Given the description of an element on the screen output the (x, y) to click on. 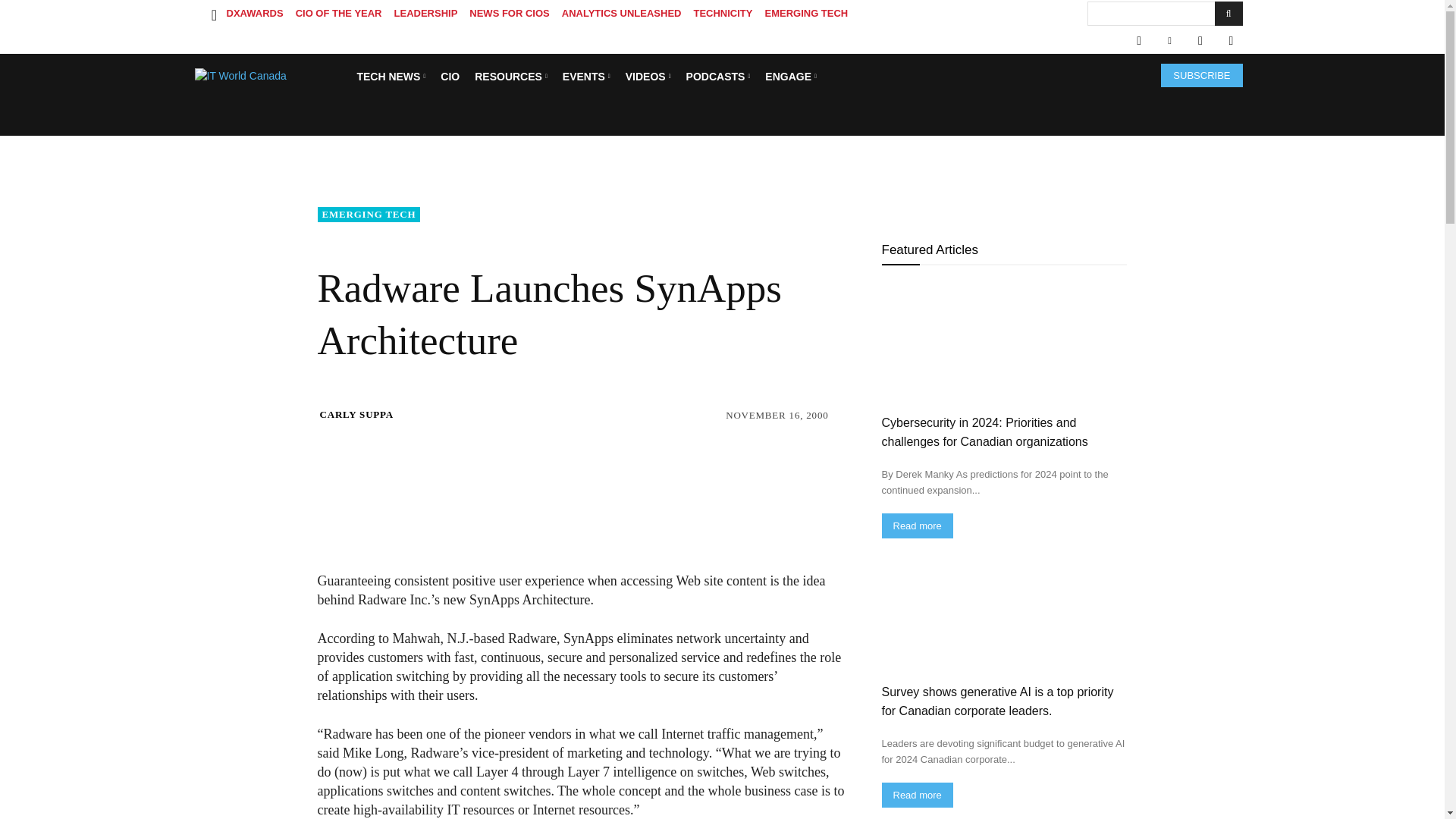
Linkedin (1168, 40)
Twitter (1200, 40)
IT World Canada - IT News (269, 76)
Youtube (1230, 40)
Facebook (1138, 40)
